Given the description of an element on the screen output the (x, y) to click on. 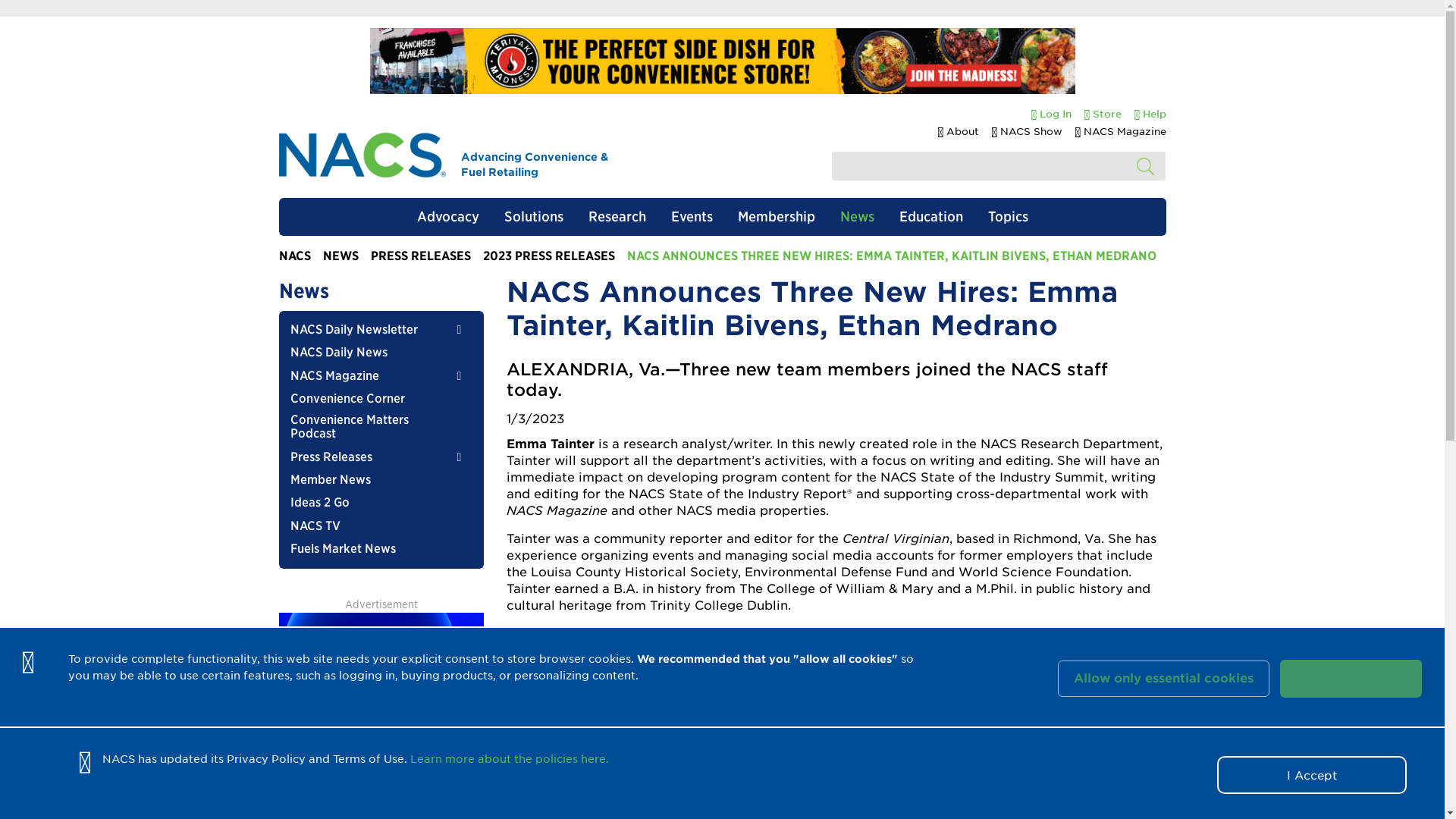
Press Releases (419, 255)
Help (1145, 114)
Verifone Ad (381, 697)
Advocacy (447, 216)
About (957, 131)
Allow all cookies (1350, 678)
2023 Press Releases (547, 255)
I Accept (1311, 774)
Store (1098, 114)
Search (1145, 167)
Search (1145, 167)
News (340, 255)
Teriyaki Madness Ad (722, 60)
NACS Magazine (1120, 131)
NACS Show (1026, 131)
